Given the description of an element on the screen output the (x, y) to click on. 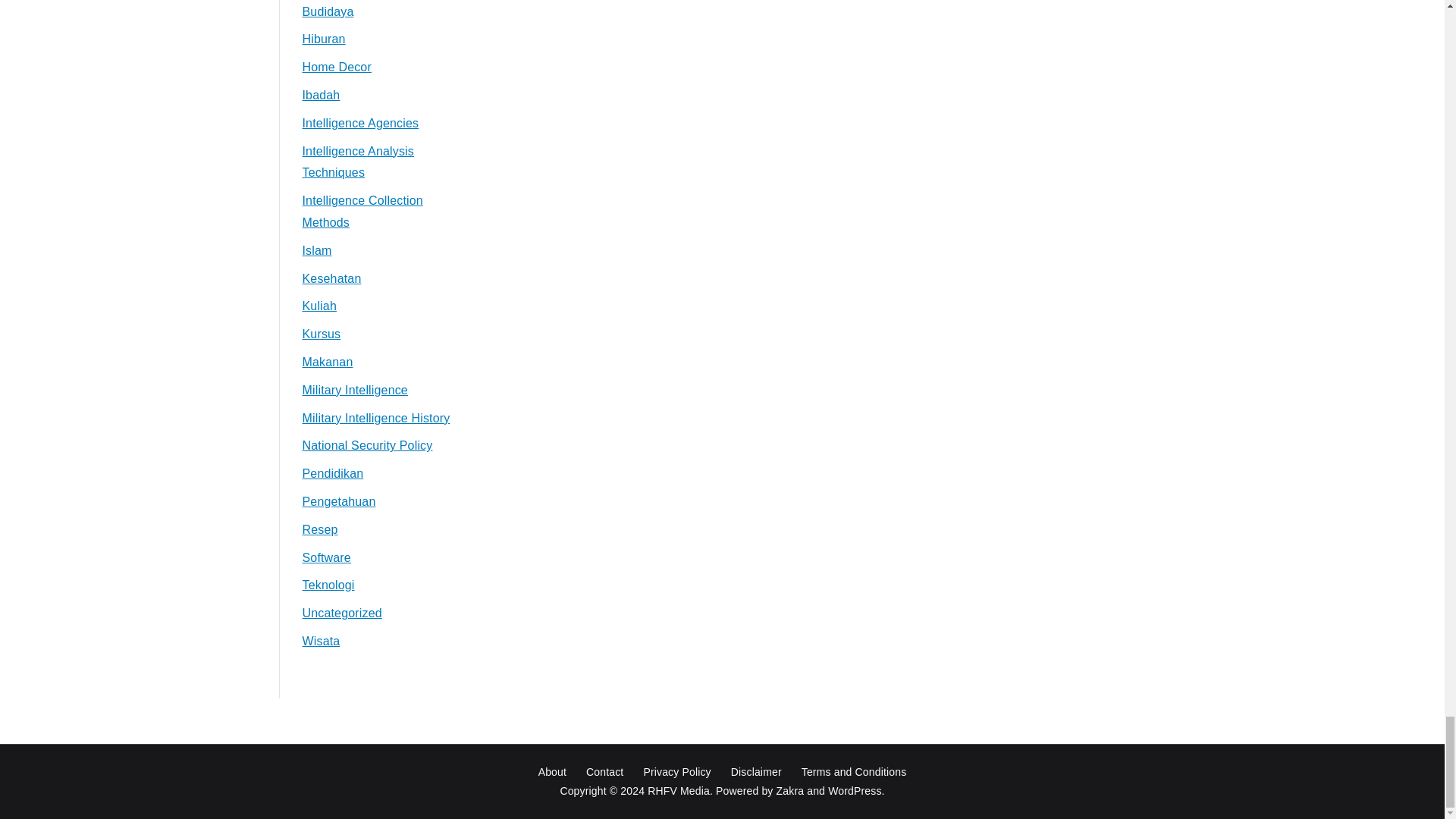
WordPress (854, 790)
RHFV Media (678, 790)
Zakra (790, 790)
